Given the description of an element on the screen output the (x, y) to click on. 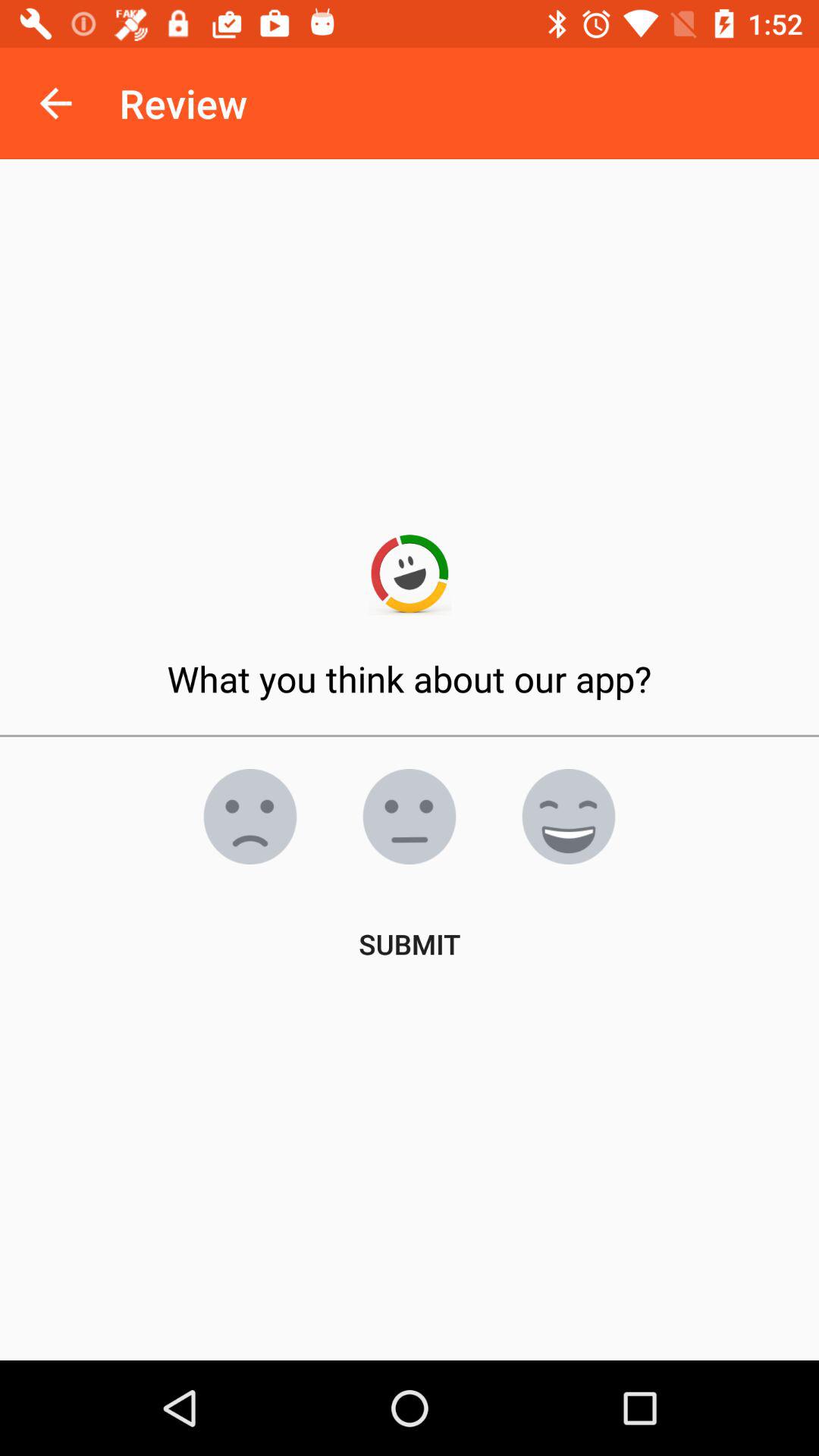
enjoy the app (568, 816)
